Given the description of an element on the screen output the (x, y) to click on. 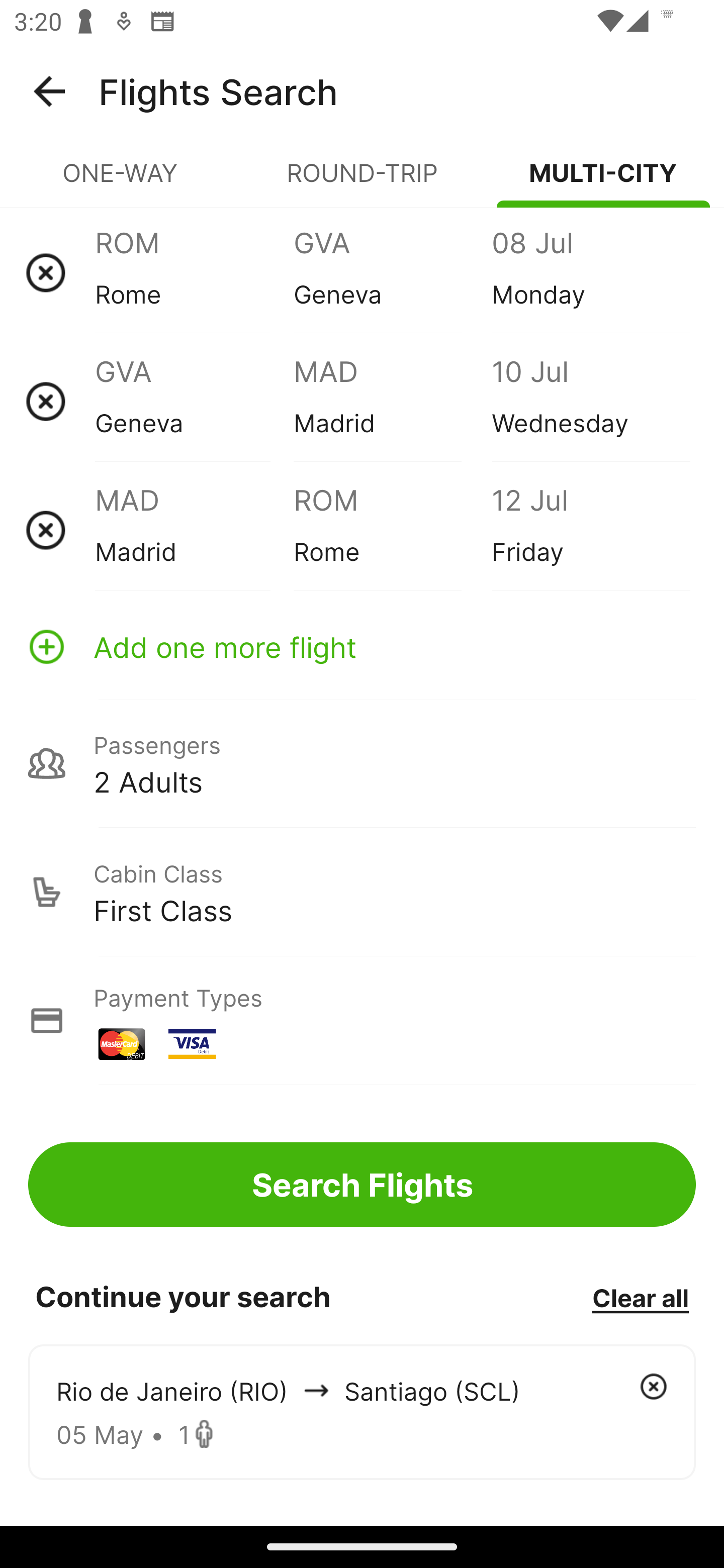
ONE-WAY (120, 180)
ROUND-TRIP (361, 180)
MULTI-CITY (603, 180)
ROM Rome (193, 272)
GVA Geneva (392, 272)
08 Jul Monday (590, 272)
GVA Geneva (193, 401)
MAD Madrid (392, 401)
10 Jul Wednesday (590, 401)
MAD Madrid (193, 529)
ROM Rome (392, 529)
12 Jul Friday (590, 529)
Add one more flight (362, 646)
Passengers 2 Adults (362, 762)
Cabin Class First Class (362, 891)
Payment Types (362, 1020)
Search Flights (361, 1184)
Clear all (640, 1297)
